Given the description of an element on the screen output the (x, y) to click on. 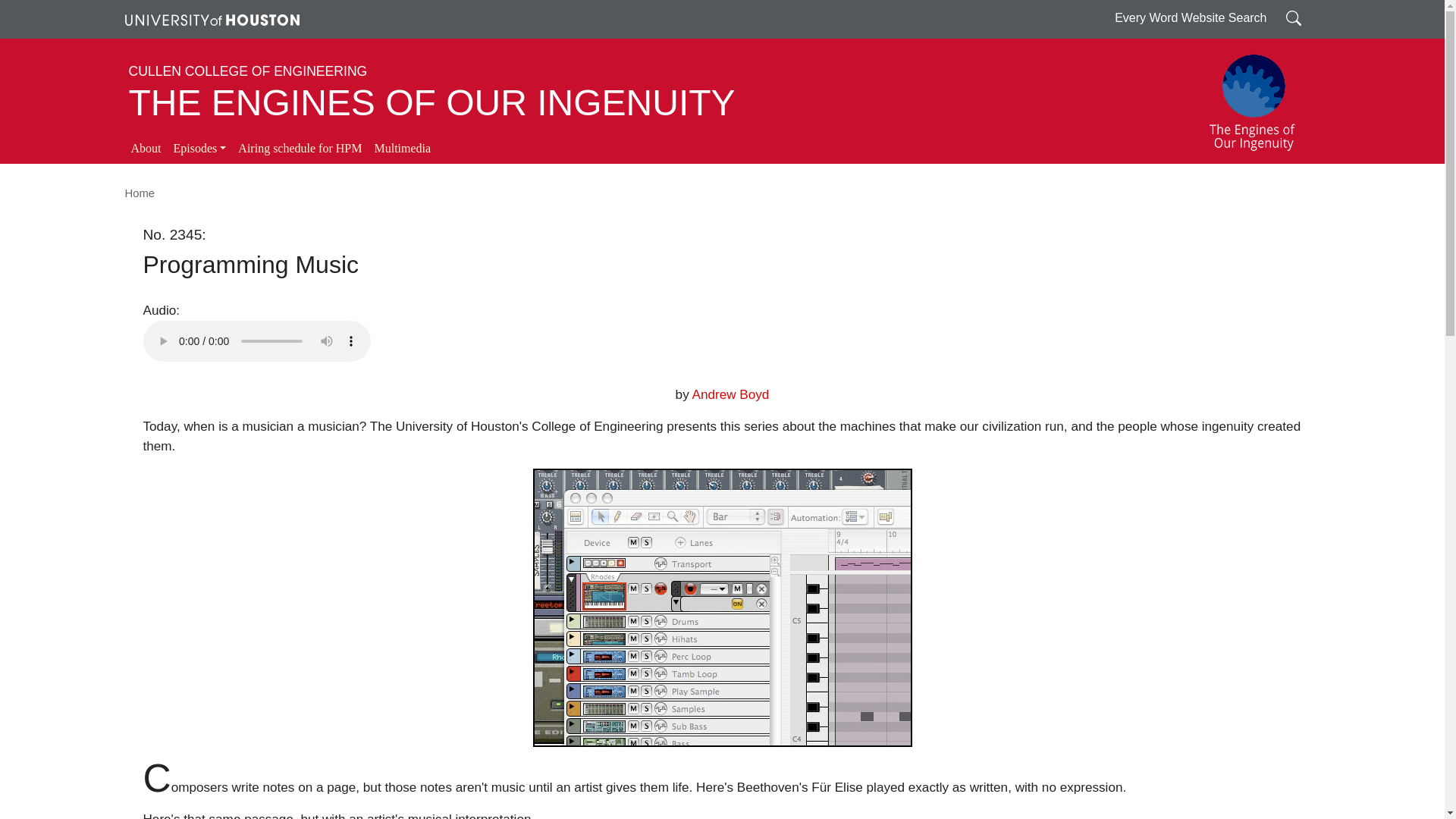
Airing schedule for HPM (299, 148)
Airing schedule for HPM (299, 148)
Multimedia (402, 148)
Home (138, 193)
THE ENGINES OF OUR INGENUITY (432, 102)
Episodes (199, 148)
About (145, 148)
Enter the terms you wish to search for. (1293, 17)
About (145, 148)
Episodes (199, 148)
